Given the description of an element on the screen output the (x, y) to click on. 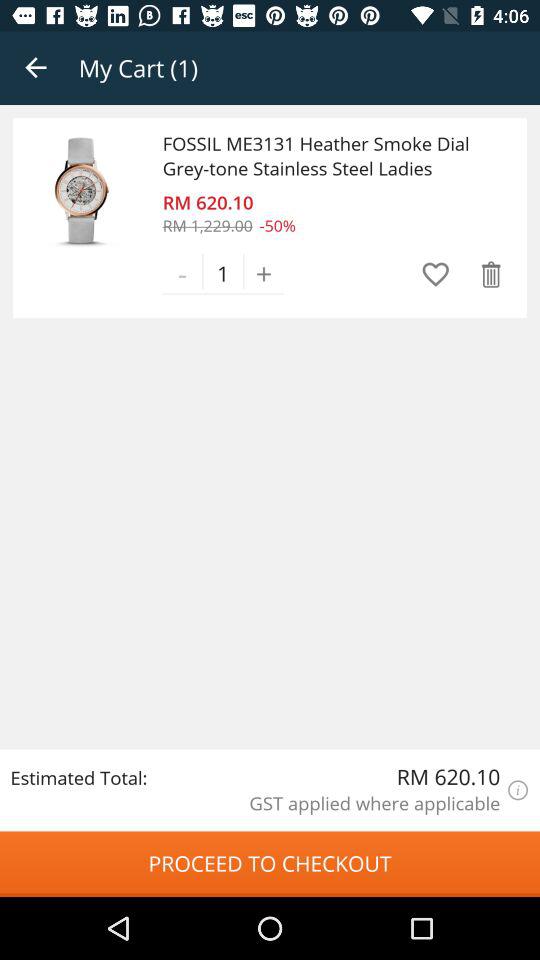
swipe to the + item (263, 273)
